Given the description of an element on the screen output the (x, y) to click on. 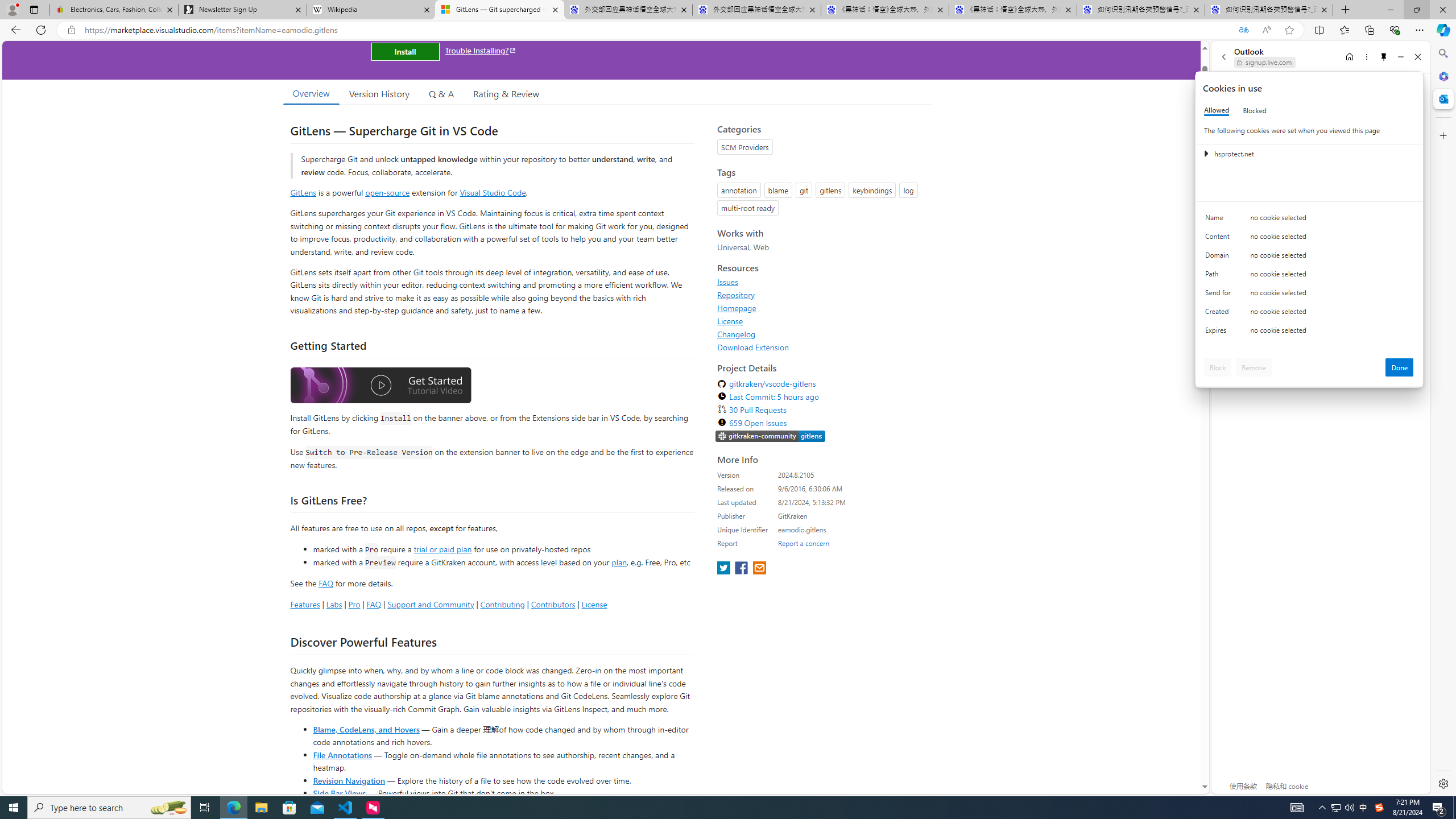
Class: c0153 c0157 c0154 (1309, 220)
Created (1219, 313)
Remove (1253, 367)
Domain (1219, 257)
Blocked (1255, 110)
Done (1399, 367)
Block (1217, 367)
Expires (1219, 332)
Send for (1219, 295)
Name (1219, 220)
Allowed (1216, 110)
Content (1219, 239)
no cookie selected (1331, 332)
Class: c0153 c0157 (1309, 332)
Path (1219, 276)
